Given the description of an element on the screen output the (x, y) to click on. 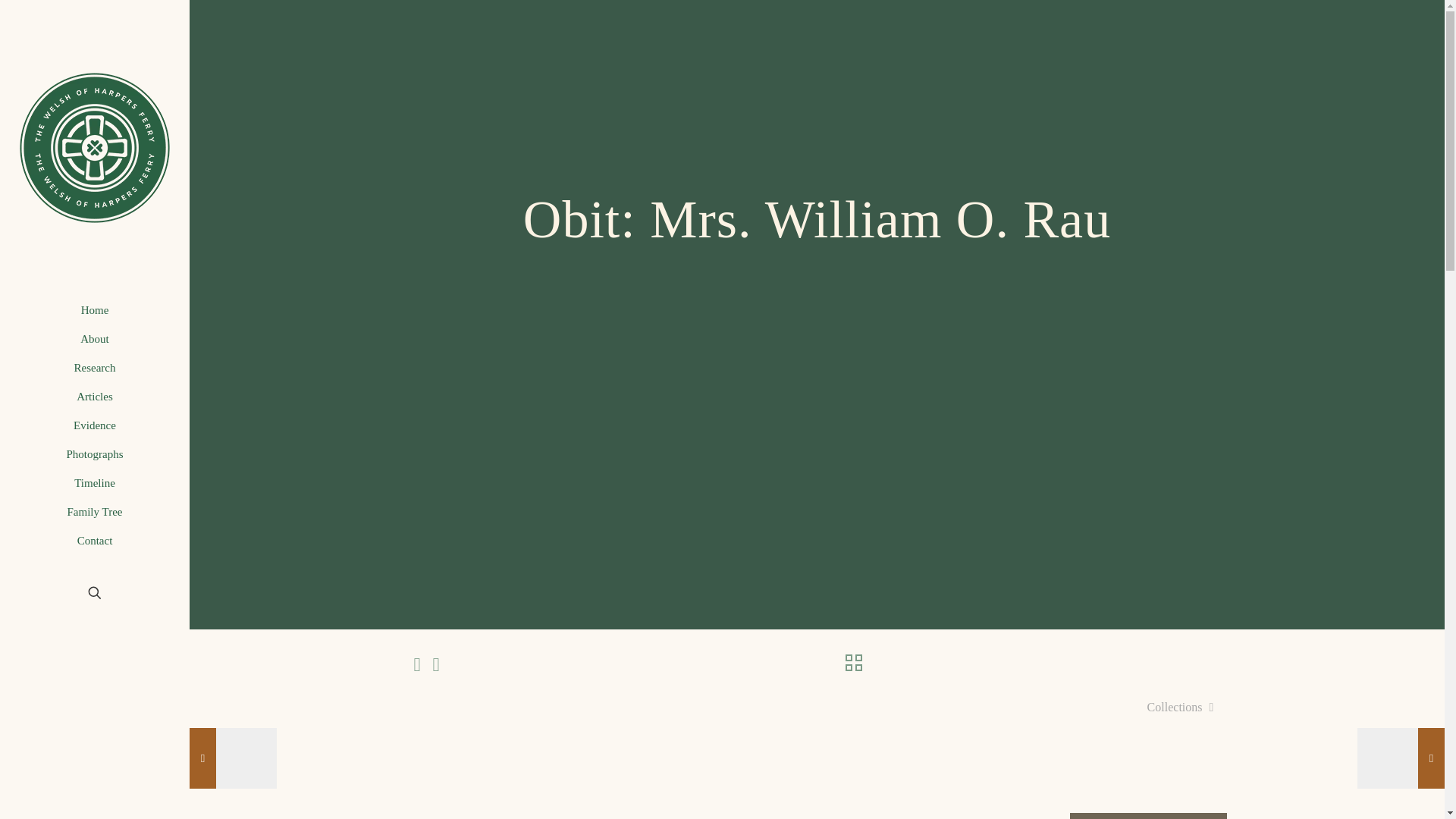
About (94, 338)
Research (94, 367)
Contact (94, 540)
Timeline (94, 482)
Family Tree (94, 511)
Home (94, 309)
Photographs (94, 453)
Articles (94, 396)
Spirit of Jefferson (529, 816)
Evidence (94, 425)
